Given the description of an element on the screen output the (x, y) to click on. 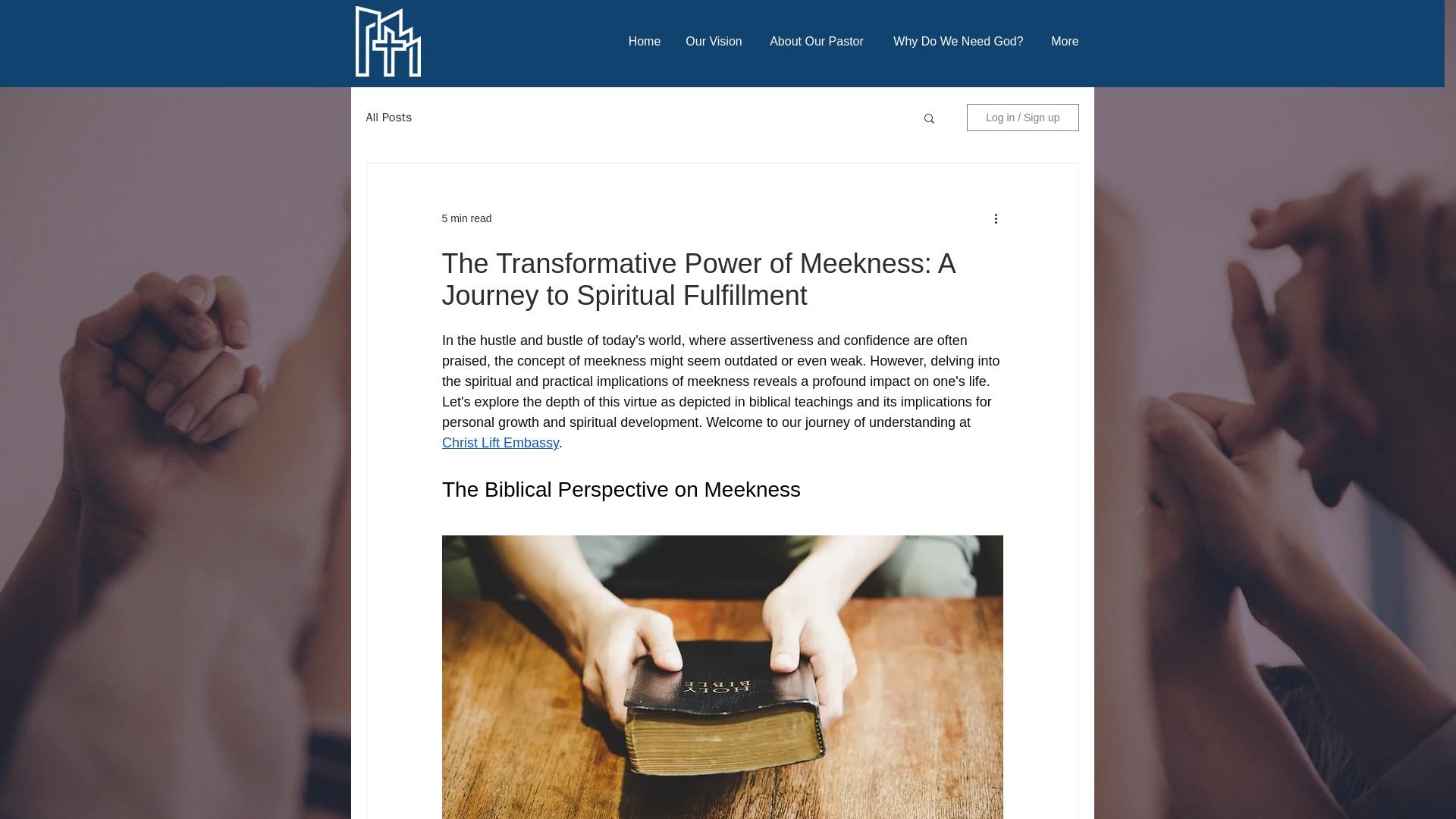
All Posts (388, 116)
5 min read (466, 218)
About Our Pastor (817, 41)
Our Vision (713, 41)
Why Do We Need God? (957, 41)
Christ Lift Embassy (499, 442)
Home (643, 41)
